Given the description of an element on the screen output the (x, y) to click on. 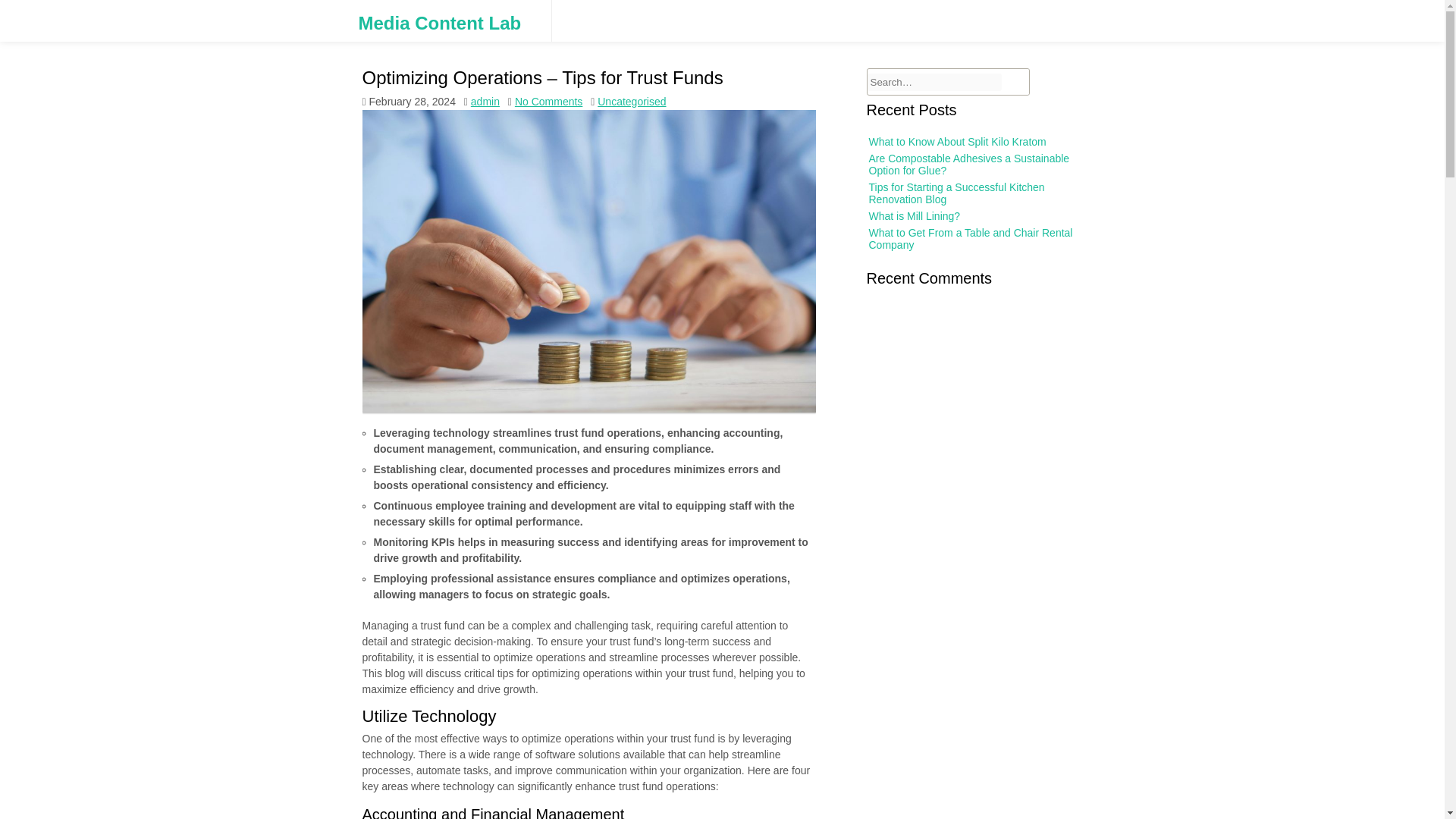
Tips for Starting a Successful Kitchen Renovation Blog (957, 192)
No Comments (548, 101)
Media Content Lab (439, 23)
admin (484, 101)
Uncategorised (630, 101)
Posts by admin (484, 101)
What to Get From a Table and Chair Rental Company (971, 238)
Are Compostable Adhesives a Sustainable Option for Glue? (969, 164)
What to Know About Split Kilo Kratom (957, 141)
What is Mill Lining? (914, 215)
